Given the description of an element on the screen output the (x, y) to click on. 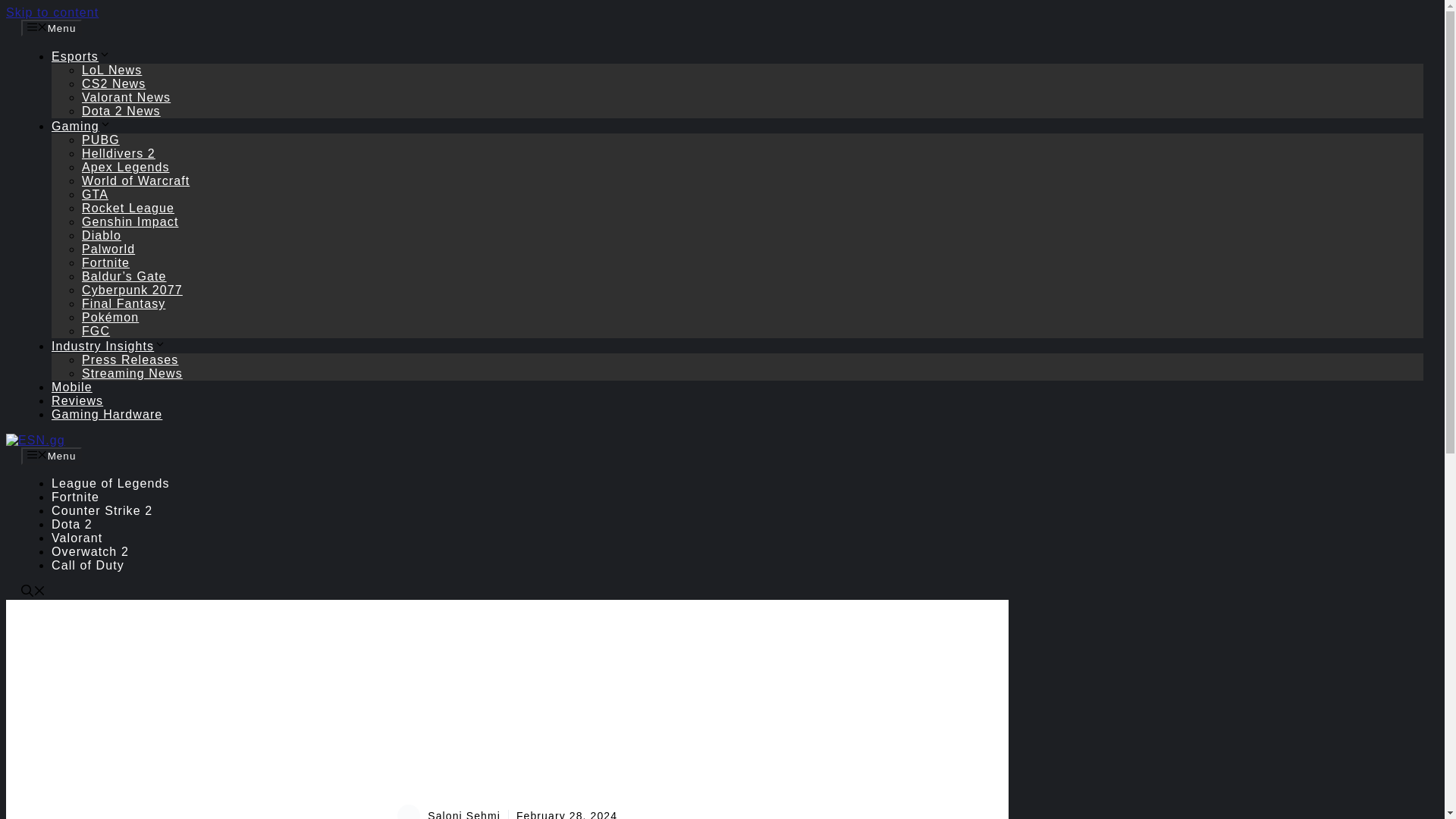
Esports (80, 56)
Apex Legends (125, 166)
Overwatch 2 (89, 551)
Diablo (100, 235)
Industry Insights (107, 345)
Valorant News (125, 97)
Gaming Hardware (105, 413)
Fortnite (105, 262)
Dota 2 (71, 523)
Call of Duty (86, 564)
Palworld (108, 248)
Menu (51, 27)
PUBG (100, 139)
Fortnite (74, 496)
Reviews (76, 400)
